Given the description of an element on the screen output the (x, y) to click on. 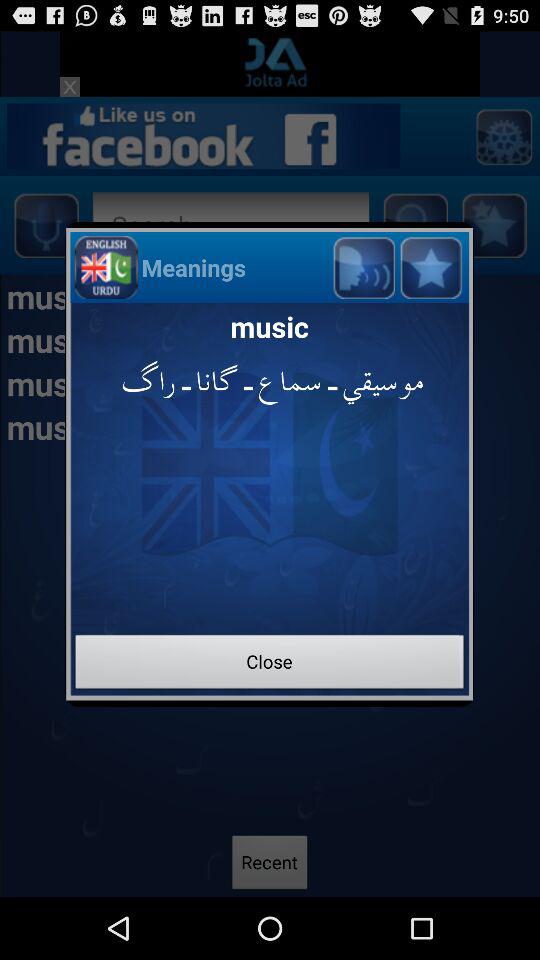
favorite button (430, 266)
